Given the description of an element on the screen output the (x, y) to click on. 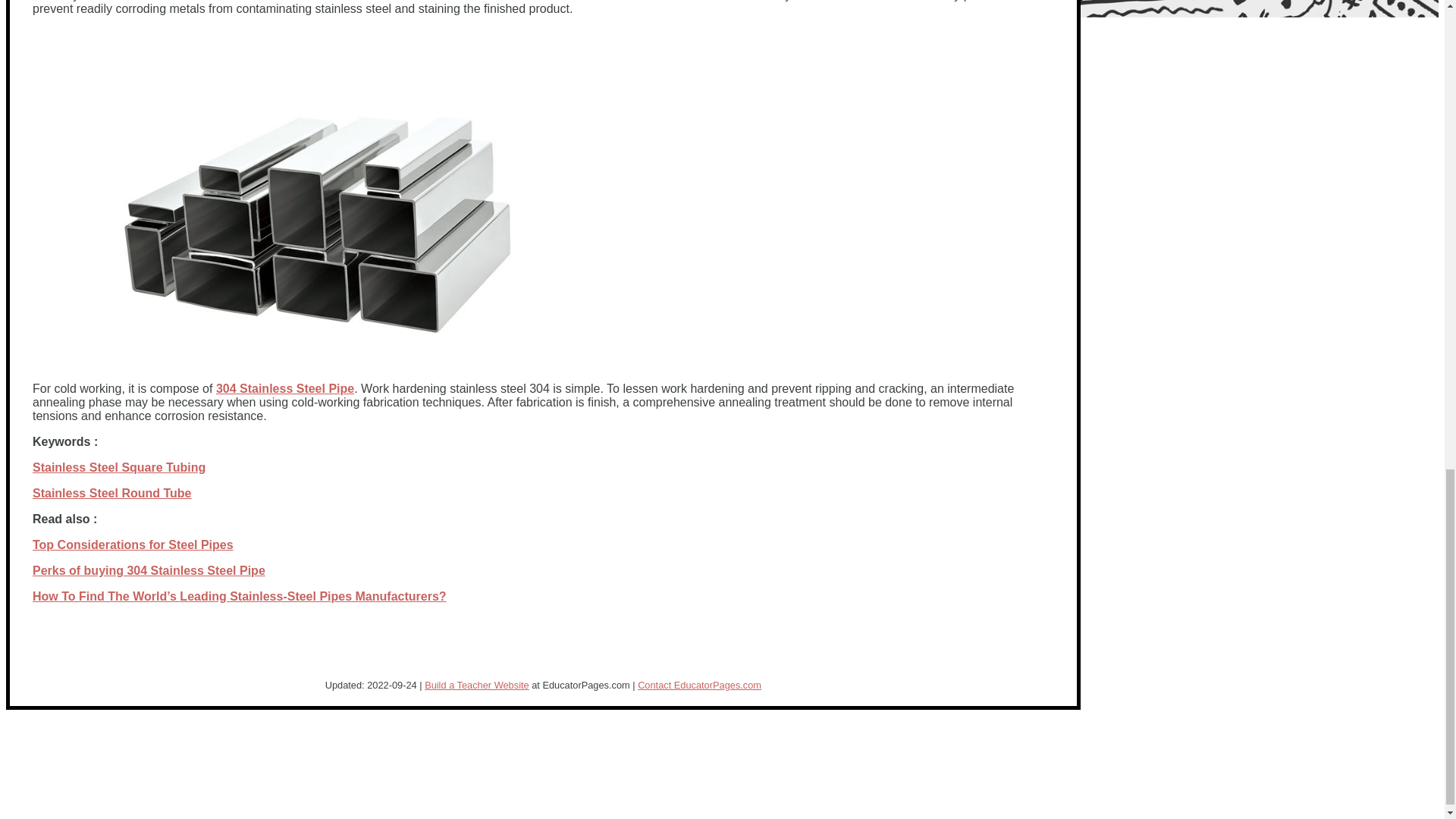
Stainless Steel Square Tubing (118, 467)
Perks of buying 304 Stainless Steel Pipe (148, 570)
304 Stainless Steel Pipe (284, 388)
Contact EducatorPages.com (699, 685)
Stainless Steel Round Tube (112, 492)
Top Considerations for Steel Pipes (132, 544)
Build a Teacher Website (477, 685)
